Given the description of an element on the screen output the (x, y) to click on. 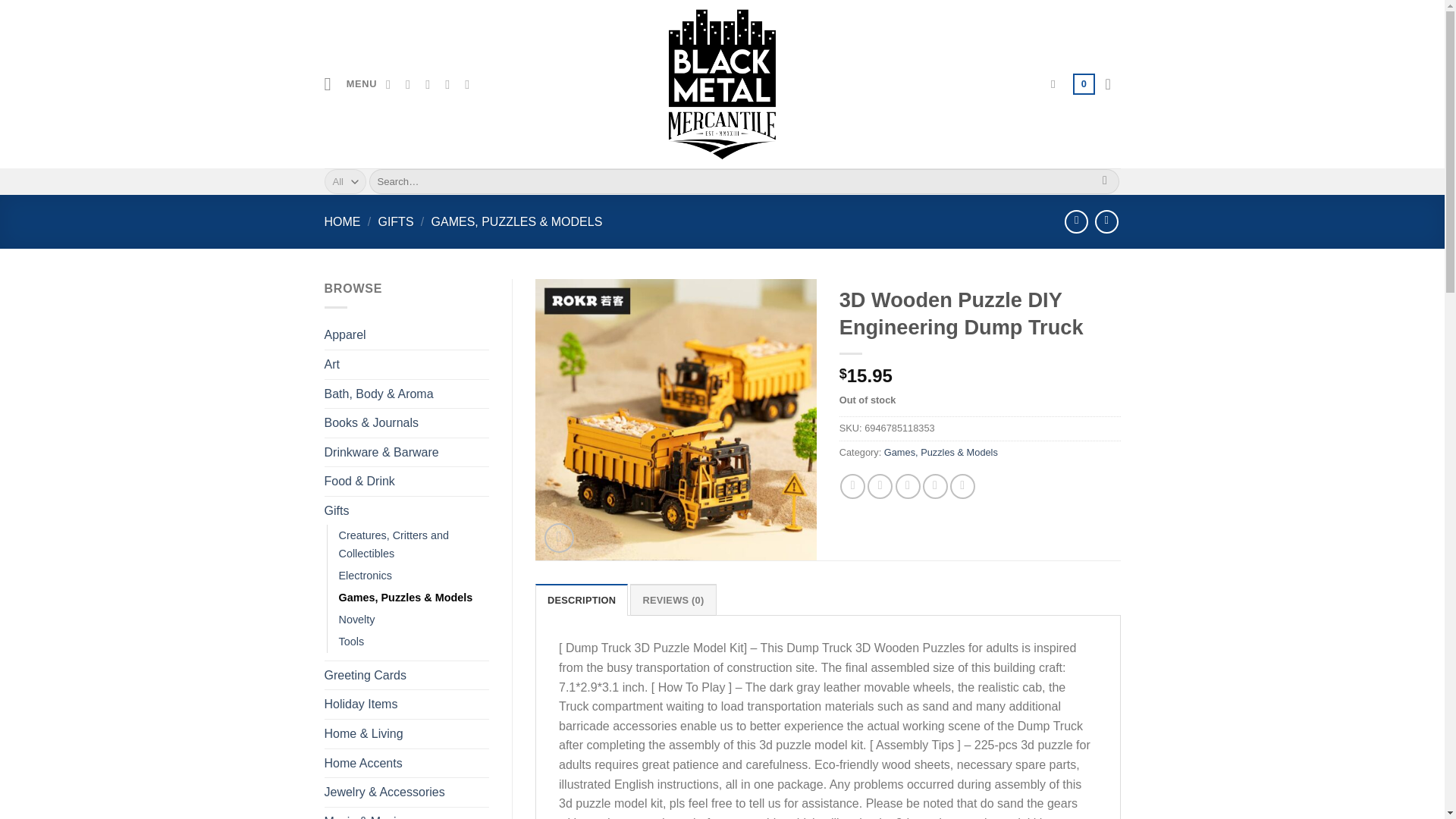
Apparel (406, 335)
HOME (342, 221)
Search (1105, 181)
Art (406, 364)
MENU (350, 83)
GIFTS (395, 221)
Follow on Facebook (391, 83)
